Given the description of an element on the screen output the (x, y) to click on. 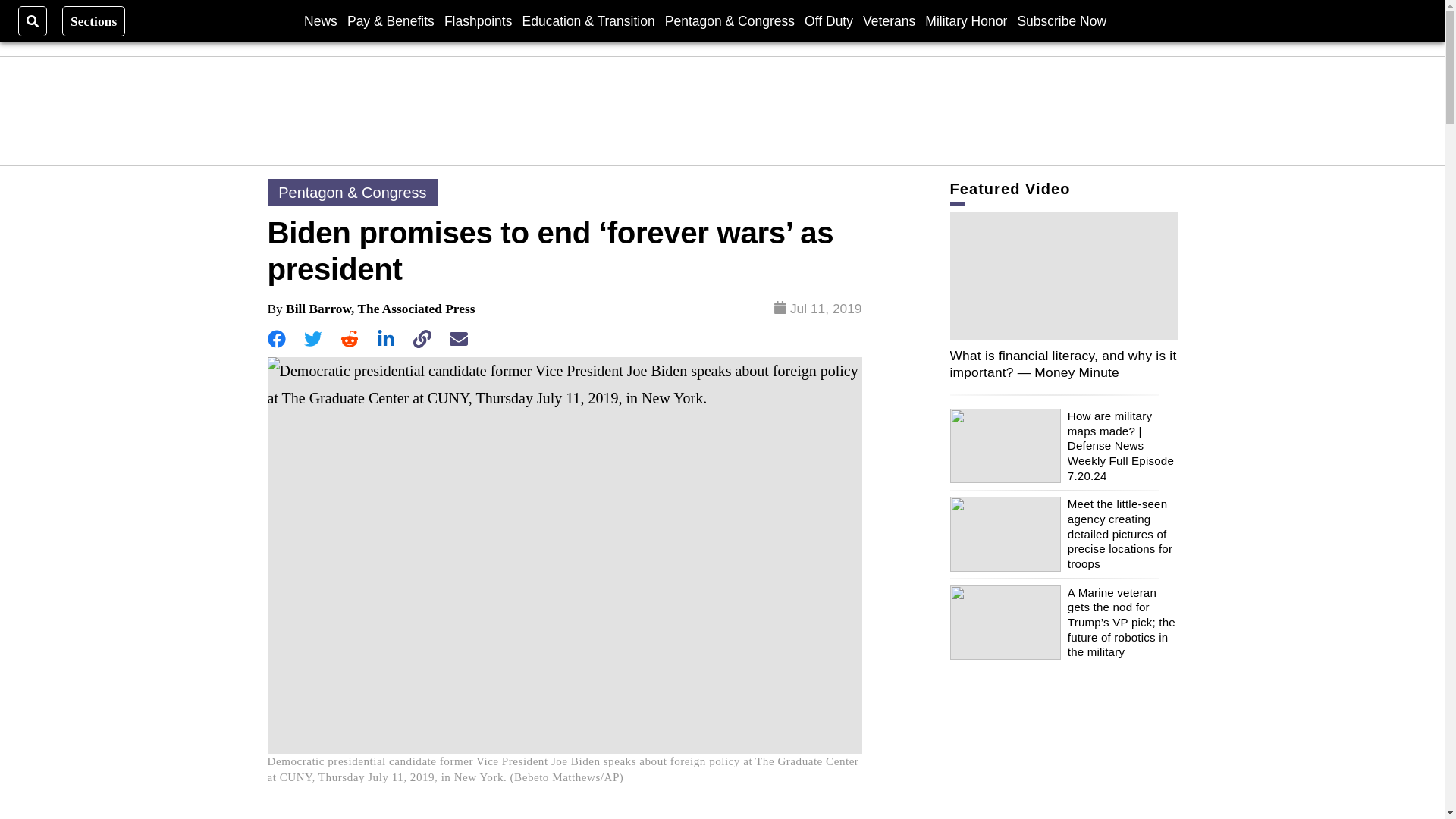
News (320, 20)
Sections (93, 20)
Off Duty (829, 20)
Military Honor (965, 20)
Flashpoints (478, 20)
Veterans (889, 20)
